Given the description of an element on the screen output the (x, y) to click on. 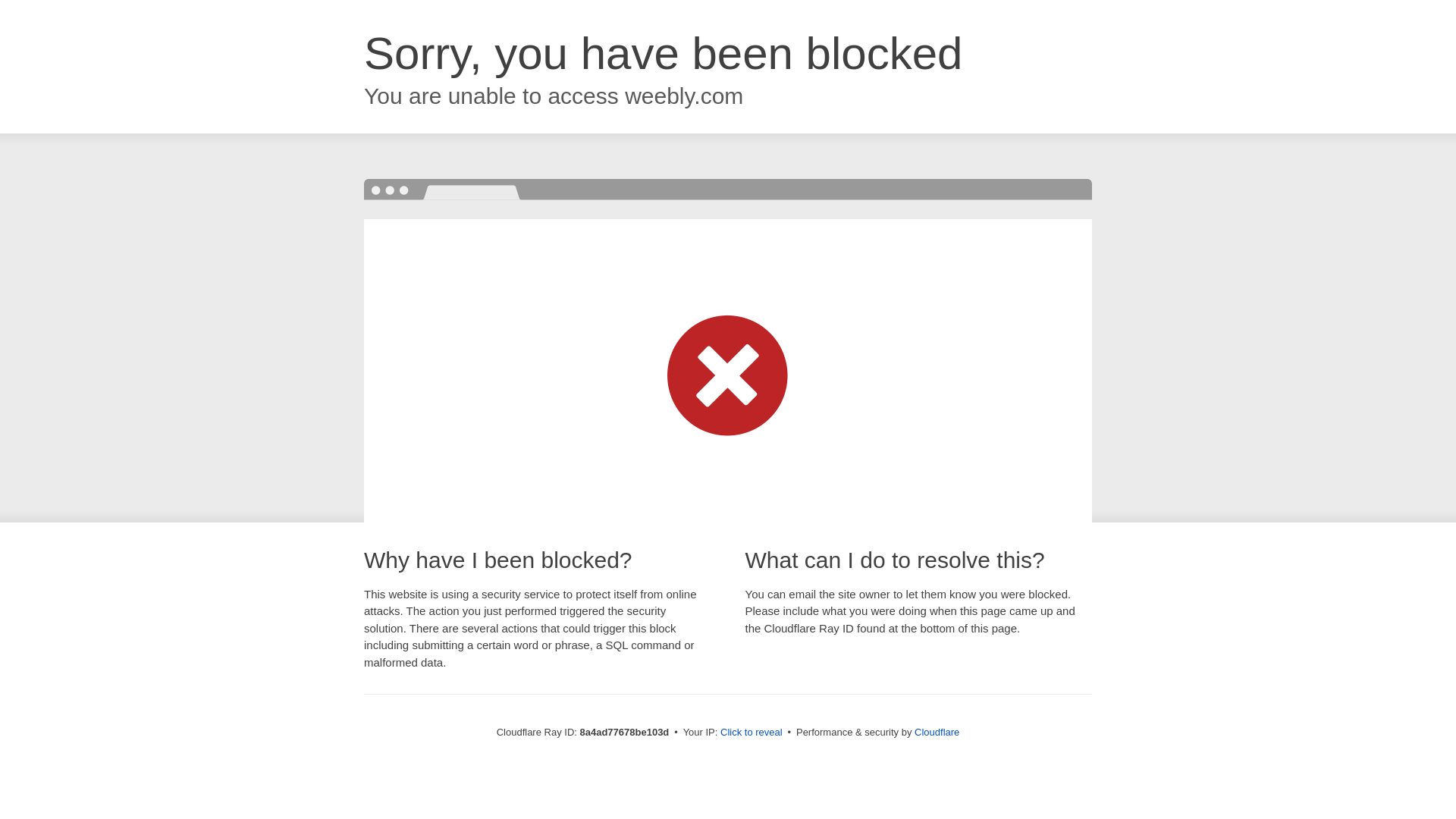
Click to reveal (751, 732)
Cloudflare (936, 731)
